Given the description of an element on the screen output the (x, y) to click on. 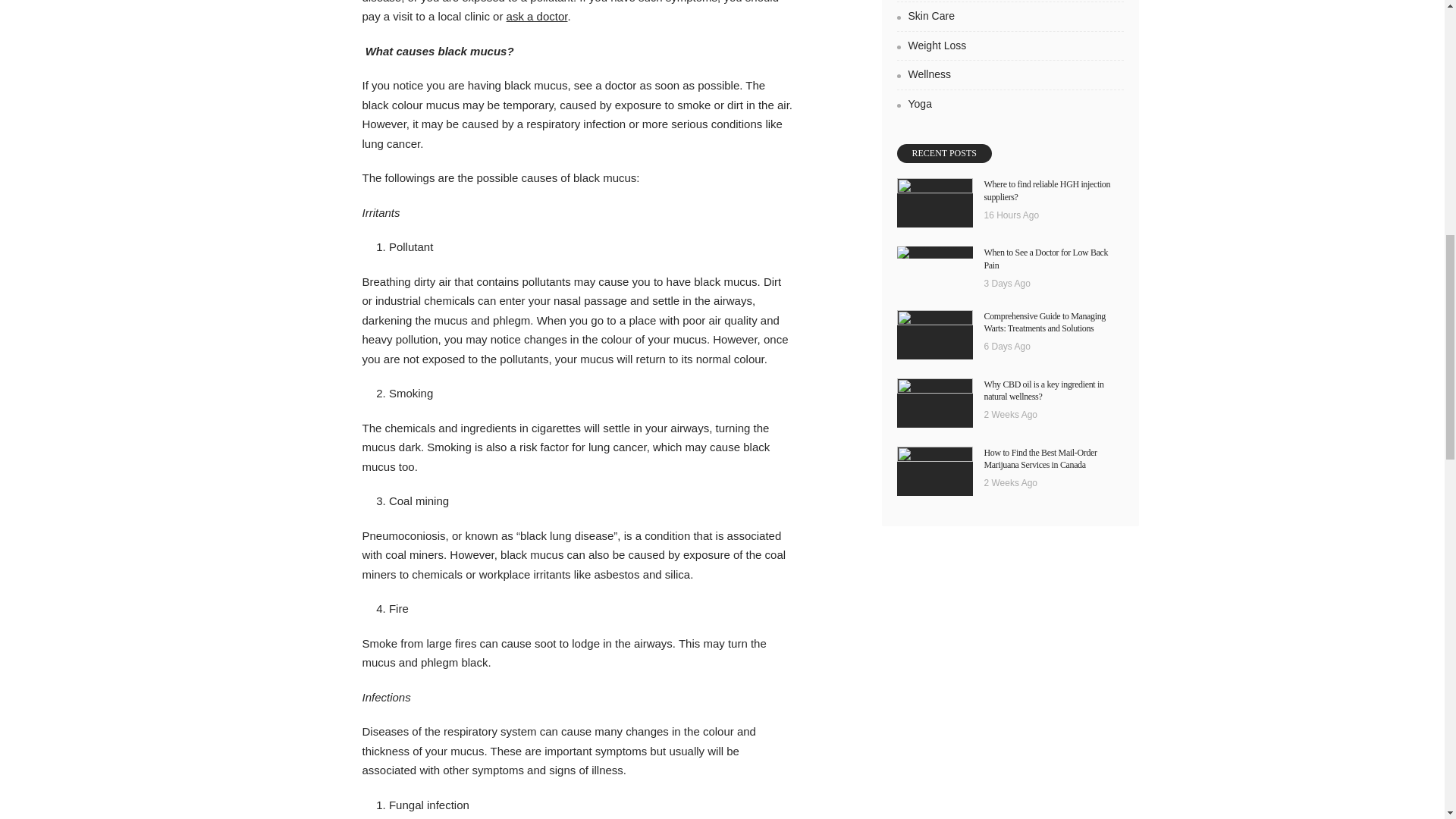
Where to find reliable HGH injection suppliers? (934, 202)
When to See a Doctor for Low Back Pain (934, 252)
Where to find reliable HGH injection suppliers? (1047, 190)
ask a doctor (536, 15)
